Given the description of an element on the screen output the (x, y) to click on. 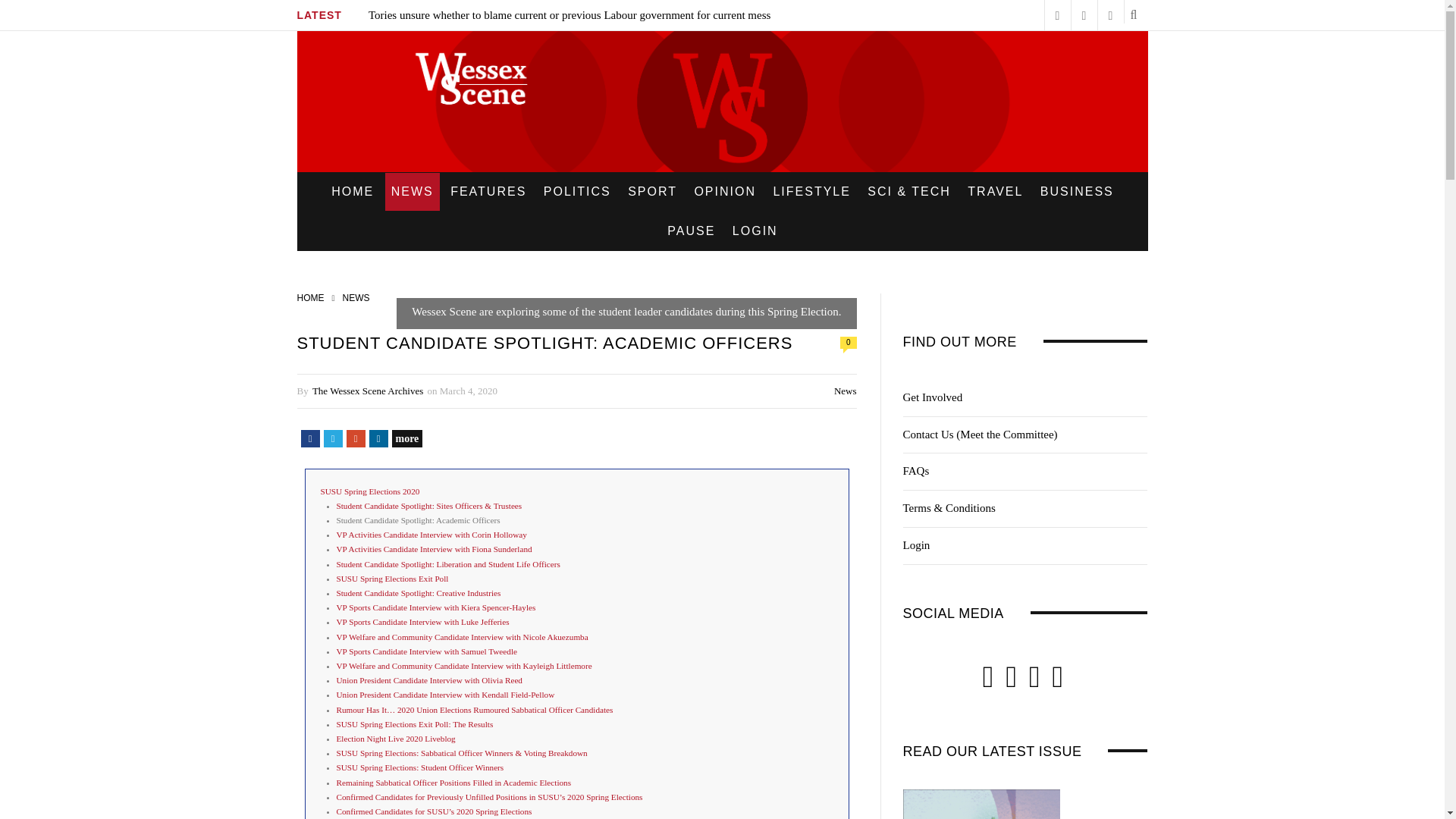
HOME (310, 297)
News (845, 390)
NEWS (412, 191)
TRAVEL (994, 191)
SPORT (651, 191)
Twitter (332, 438)
Wessex Scene (722, 101)
OPINION (724, 191)
The Wessex Scene Archives (368, 390)
FEATURES (488, 191)
Posts by The Wessex Scene Archives (368, 390)
LinkedIn (377, 438)
Facebook (308, 438)
